Given the description of an element on the screen output the (x, y) to click on. 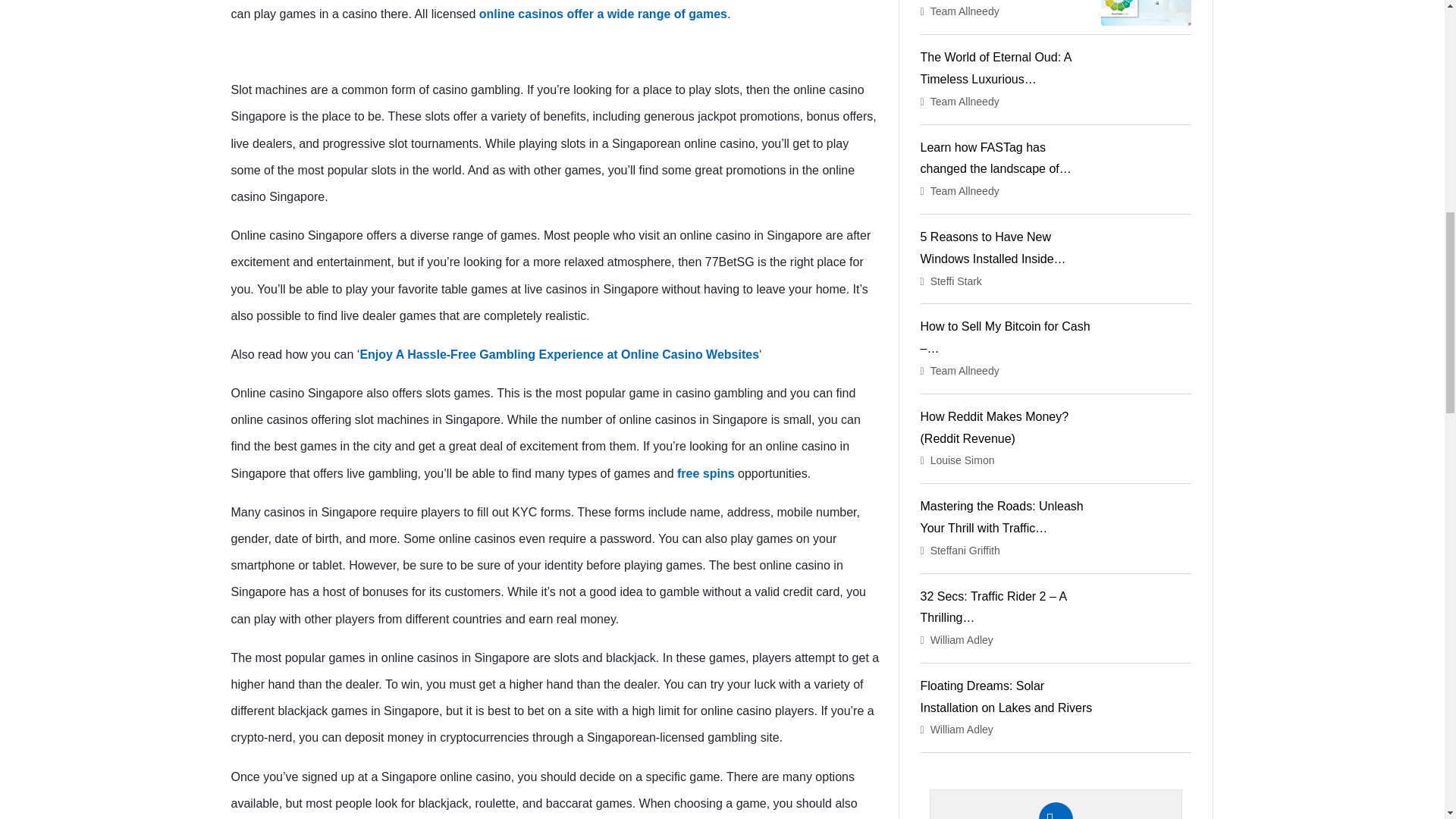
free spins (706, 472)
online casinos offer a wide range of games (602, 13)
Team Allneedy (964, 191)
Team Allneedy (964, 10)
Team Allneedy (964, 101)
